Given the description of an element on the screen output the (x, y) to click on. 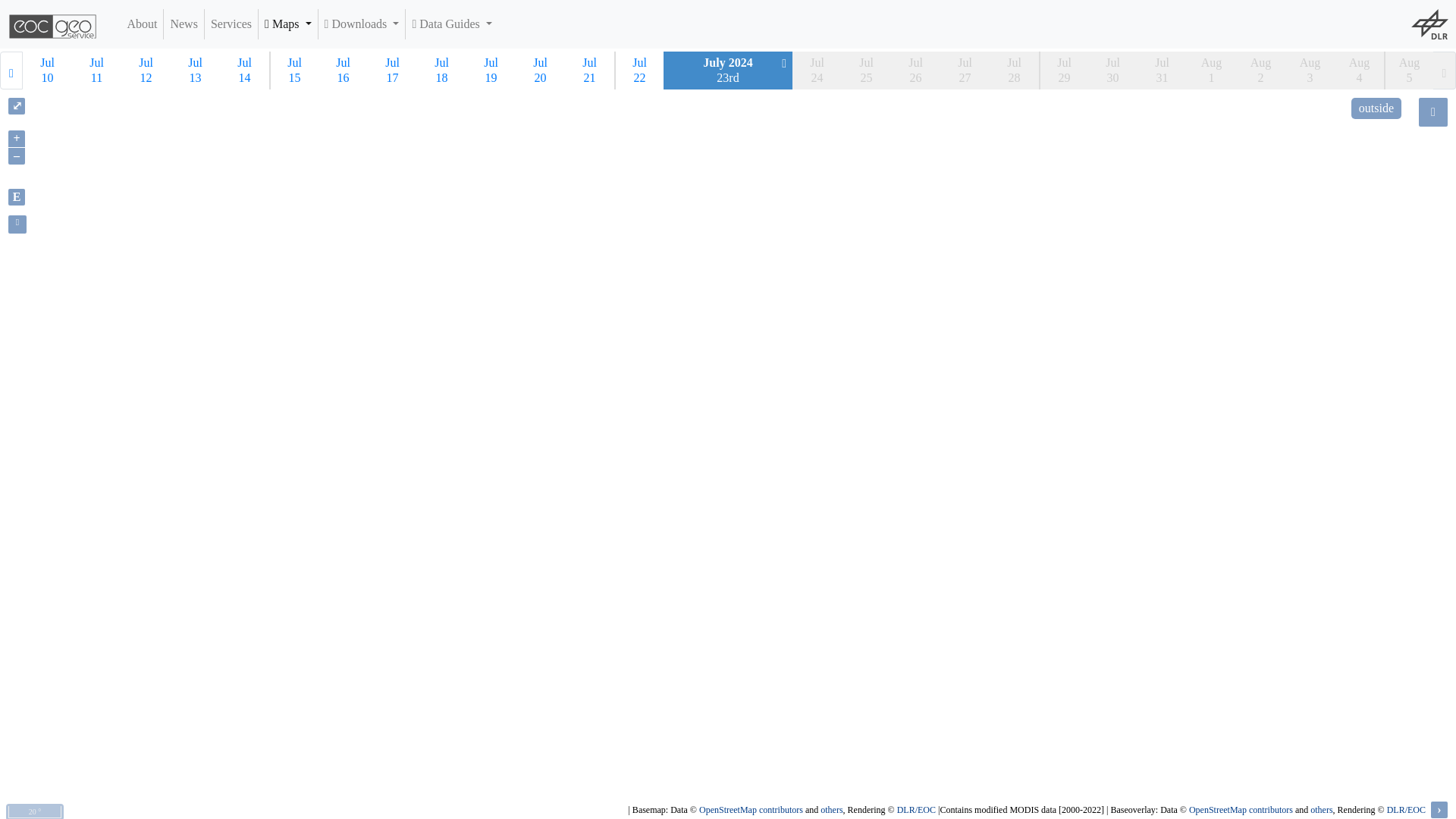
Invalid date (915, 70)
About (141, 24)
Invalid date (866, 70)
Services (231, 24)
Invalid date (965, 70)
Wednesday, 17th July 2024 (392, 70)
Thursday, 18th July 2024 (440, 70)
Saturday, 20th July 2024 (539, 70)
Sunday, 21st July 2024 (589, 70)
Saturday, 13th July 2024 (194, 70)
Monday, 22nd July 2024 (638, 70)
Invalid date (816, 70)
Tuesday, 16th July 2024 (343, 70)
Invalid date (1014, 70)
Tuesday, 23rd July 2024 (727, 70)
